Given the description of an element on the screen output the (x, y) to click on. 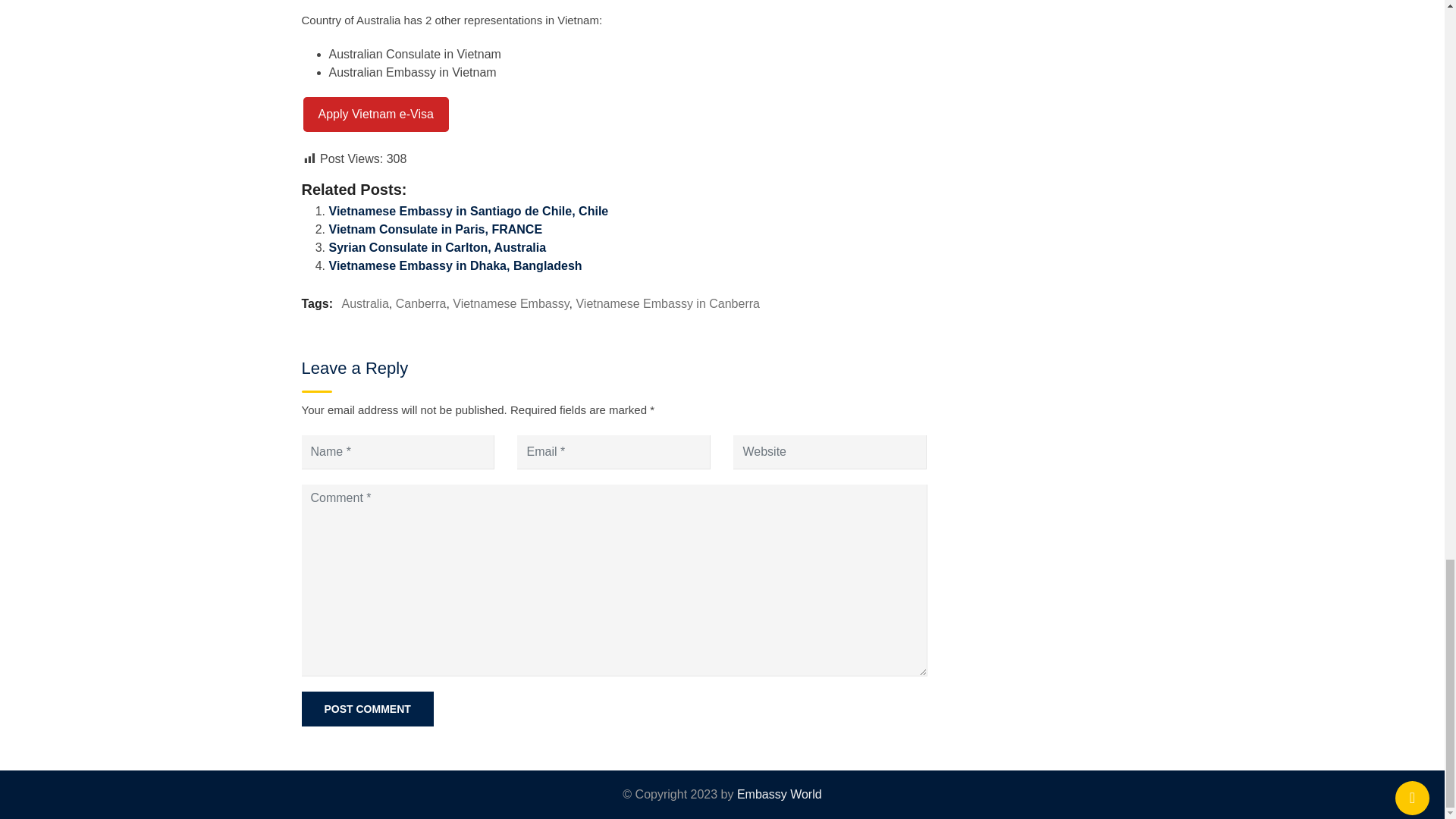
Post Comment (367, 708)
Vietnamese Embassy in Santiago de Chile, Chile (468, 210)
Vietnamese Embassy in Canberra (667, 303)
Australia (365, 303)
Vietnamese Embassy in Dhaka, Bangladesh (455, 265)
Canberra (421, 303)
Syrian Consulate in Carlton, Australia (438, 246)
Vietnamese Embassy in Dhaka, Bangladesh (455, 265)
Vietnam Consulate in Paris, FRANCE (436, 228)
Apply Vietnam e-Visa (375, 114)
Vietnamese Embassy (510, 303)
Vietnam Consulate in Paris, FRANCE (436, 228)
Syrian Consulate in Carlton, Australia (438, 246)
Vietnamese Embassy in Santiago de Chile, Chile (468, 210)
Post Comment (367, 708)
